Given the description of an element on the screen output the (x, y) to click on. 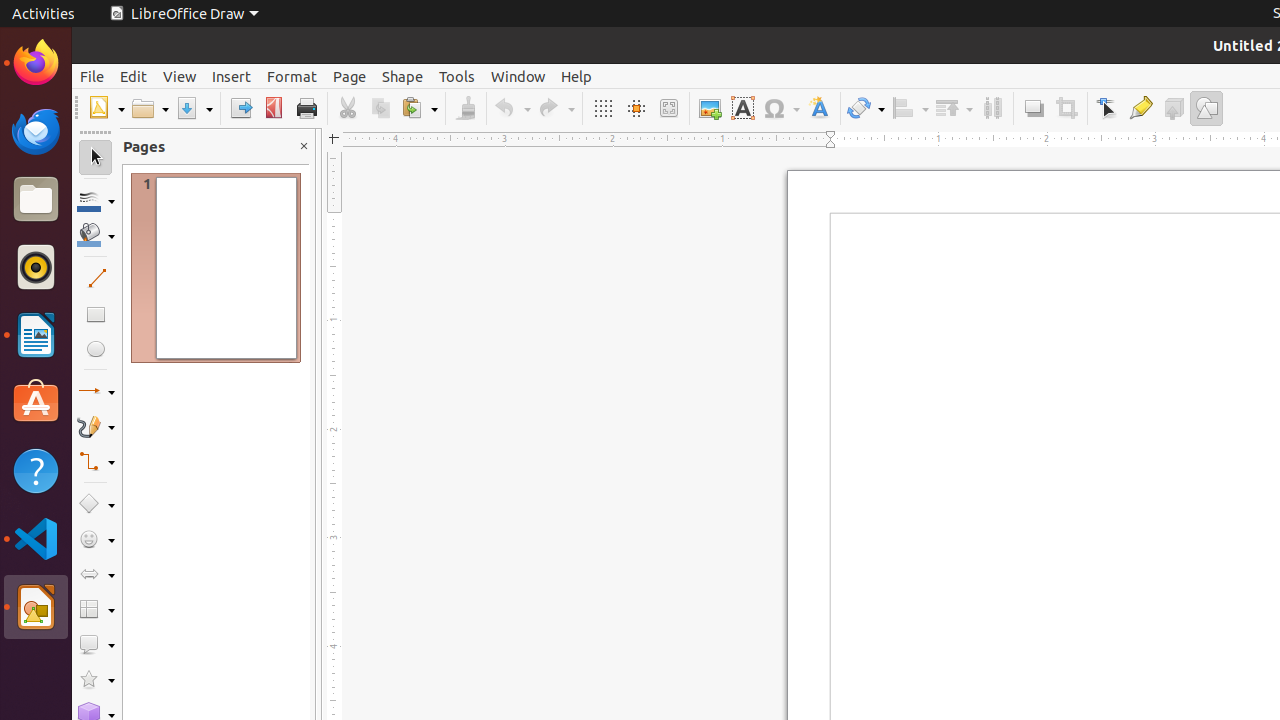
Align Element type: push-button (910, 108)
Files Element type: push-button (36, 199)
Callout Shapes Element type: push-button (96, 644)
Format Element type: menu (292, 76)
Image Element type: push-button (709, 108)
